Given the description of an element on the screen output the (x, y) to click on. 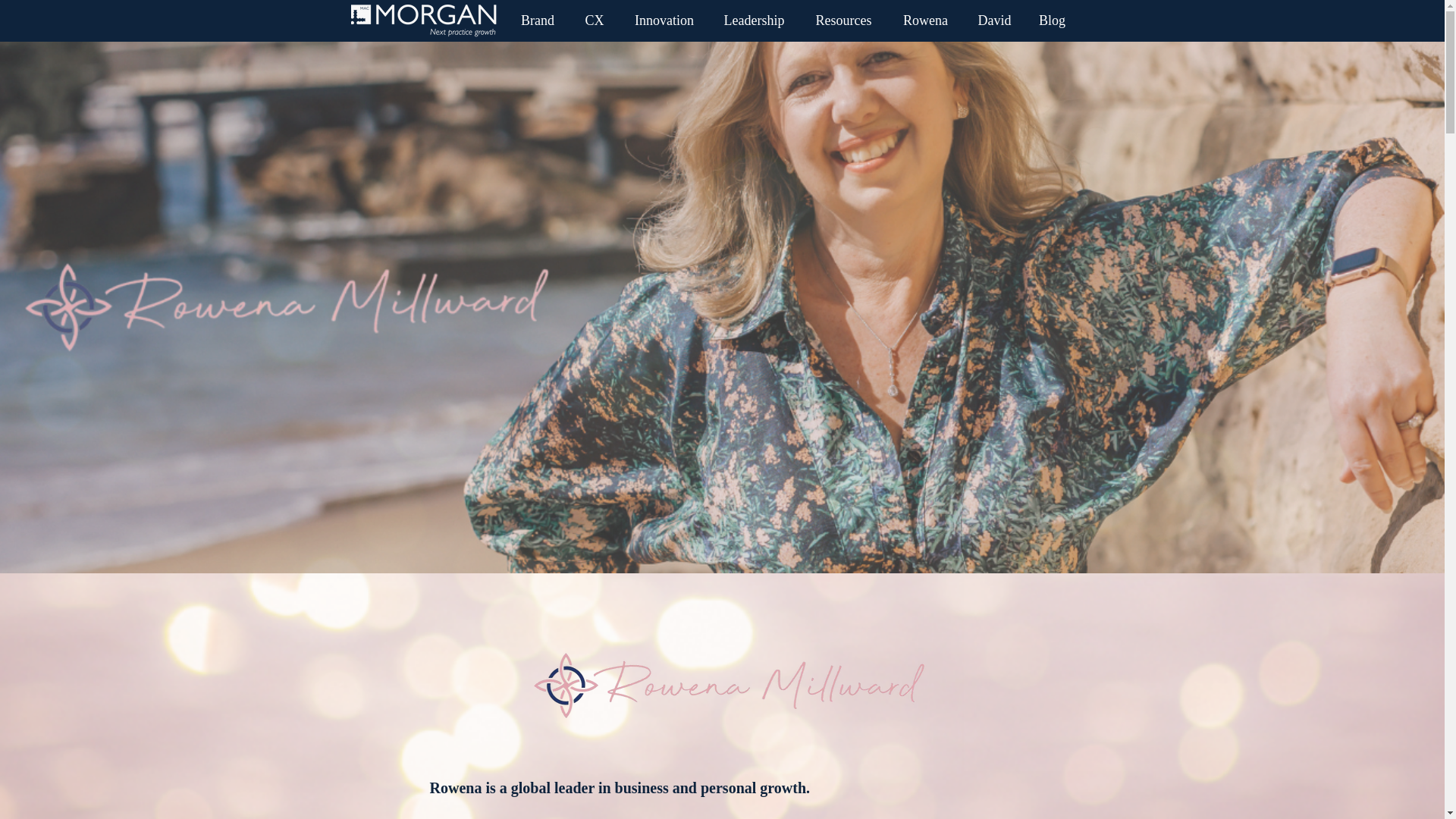
David (993, 20)
Resources (842, 20)
Blog (1051, 20)
Brand (537, 20)
CX (594, 20)
Innovation (664, 20)
Leadership (753, 20)
